Given the description of an element on the screen output the (x, y) to click on. 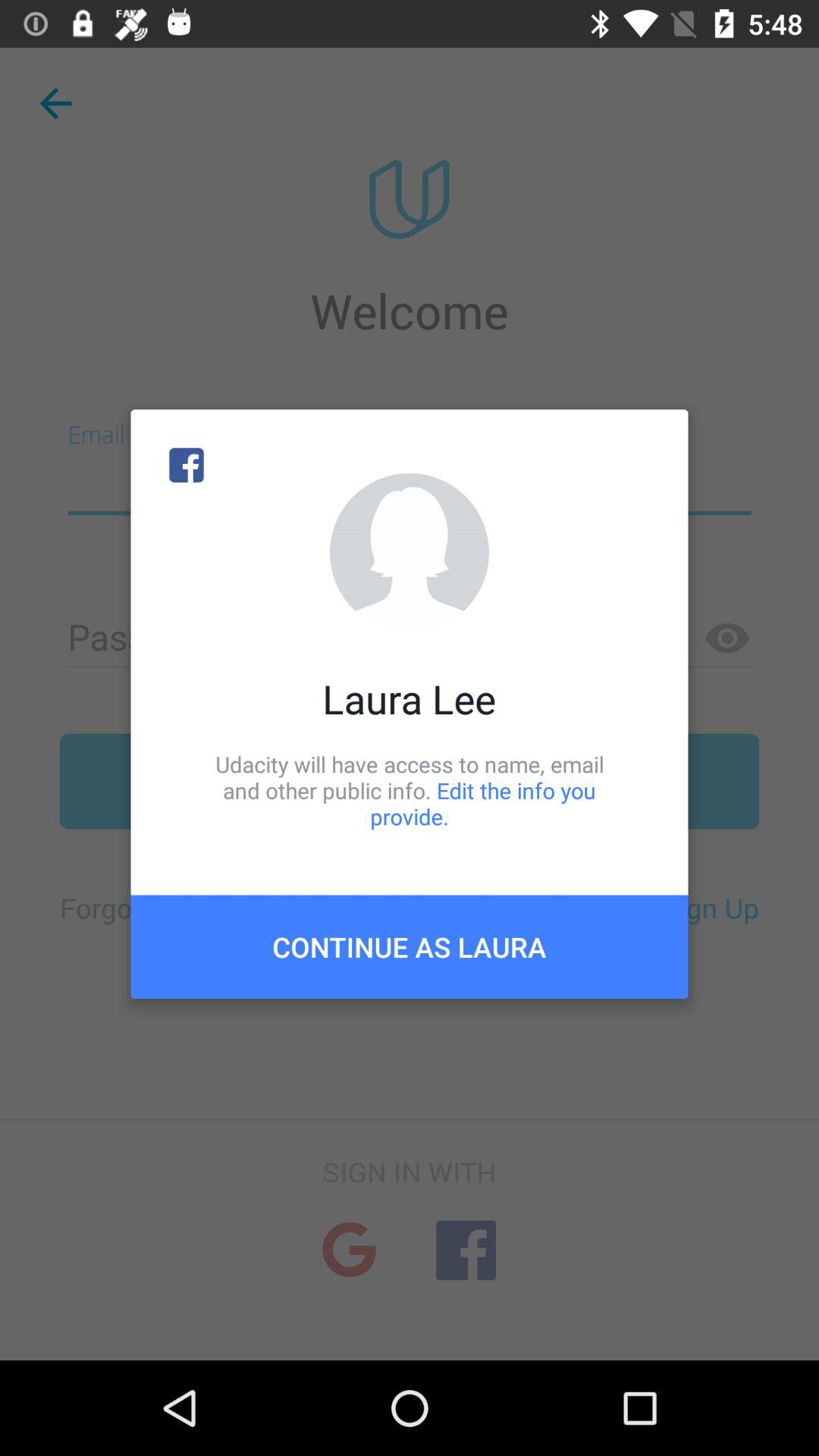
turn on continue as laura (409, 946)
